Given the description of an element on the screen output the (x, y) to click on. 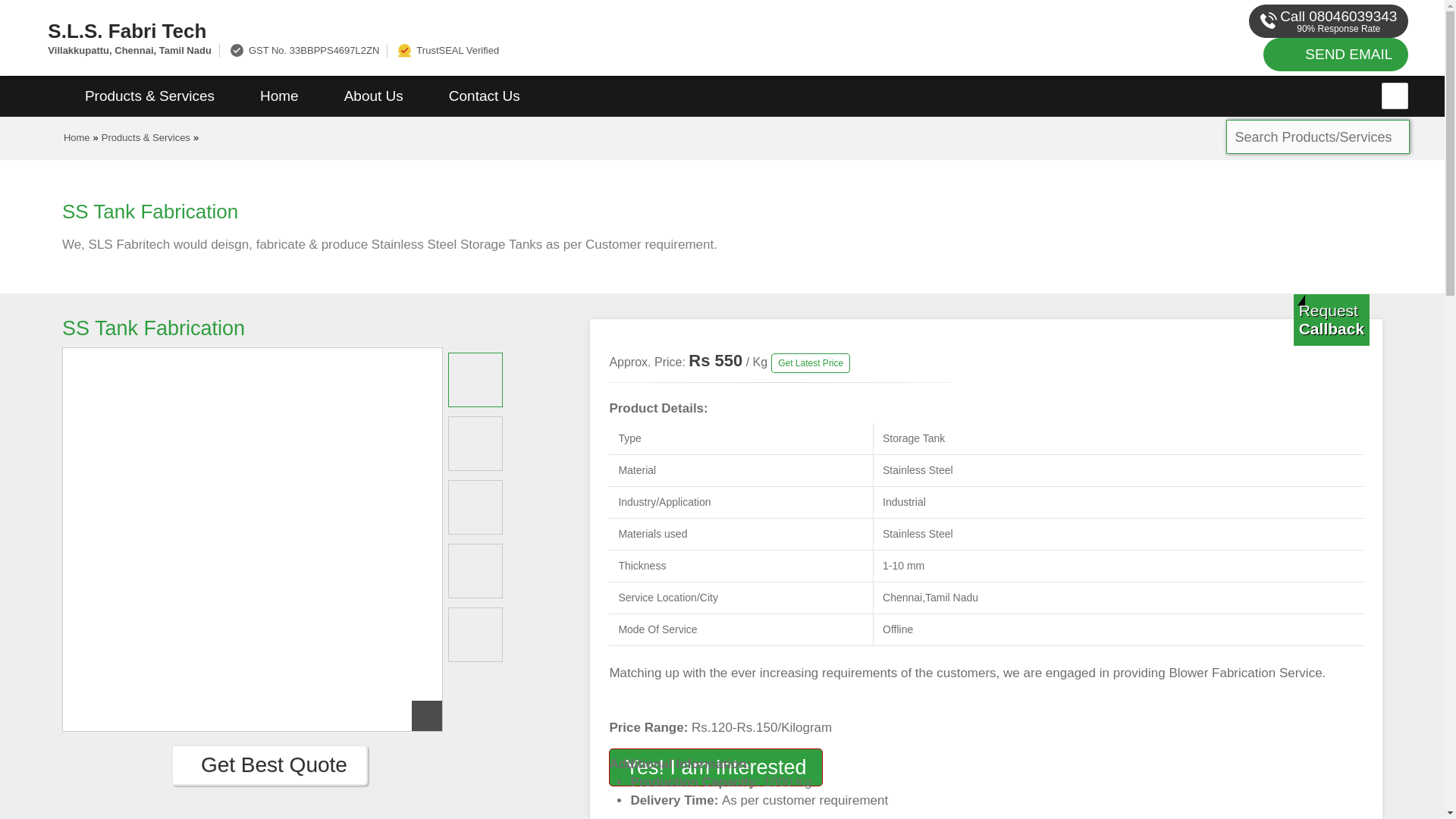
About Us (373, 96)
Home (279, 96)
S.L.S. Fabri Tech (485, 31)
Home (77, 137)
Get a Call from us (1332, 319)
Contact Us (484, 96)
